Given the description of an element on the screen output the (x, y) to click on. 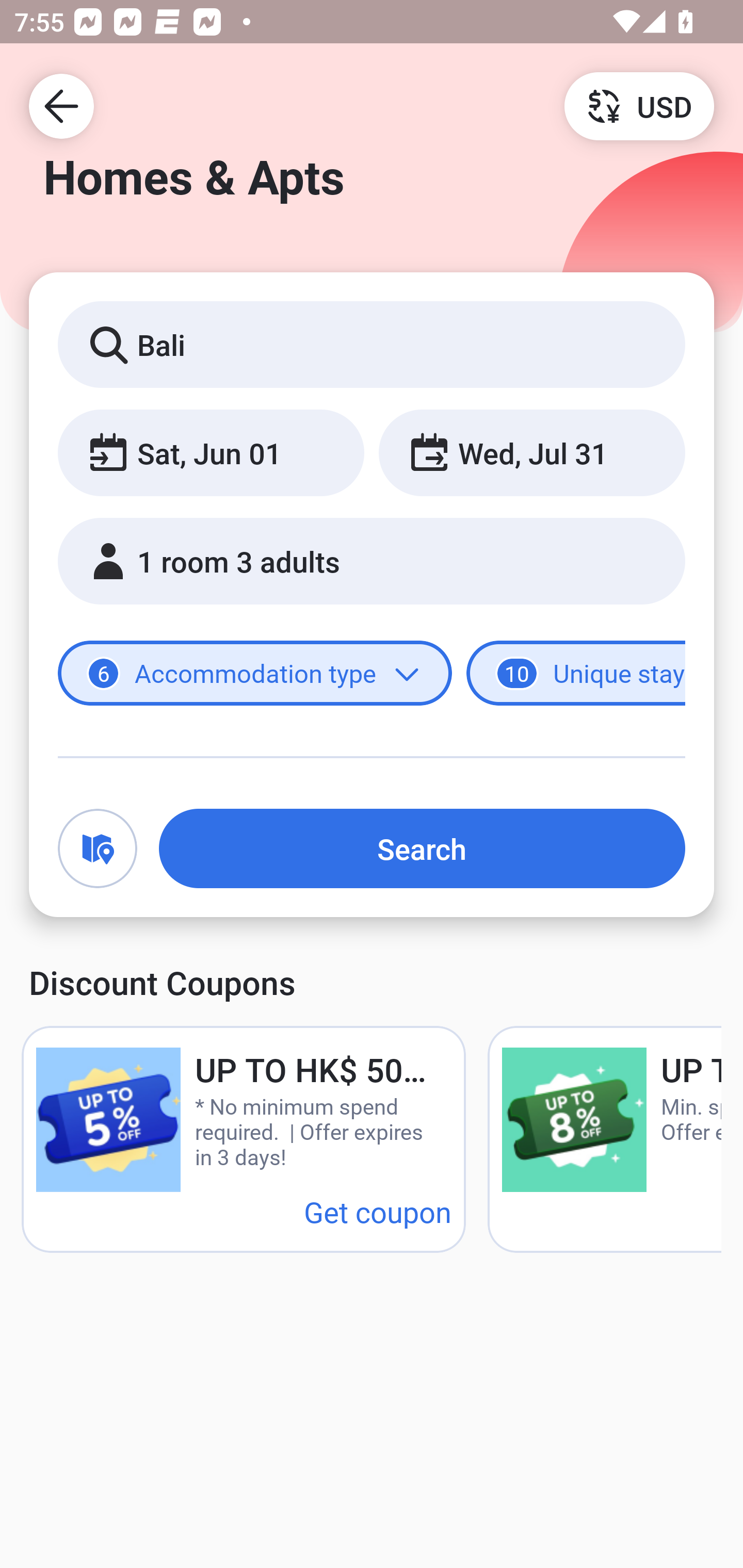
USD (639, 105)
Bali (371, 344)
Sat, Jun 01 (210, 452)
Wed, Jul 31 (531, 452)
1 room 3 adults (371, 561)
6 Accommodation type (254, 673)
10 Unique stays (575, 673)
Search (422, 848)
Get coupon (377, 1211)
